Given the description of an element on the screen output the (x, y) to click on. 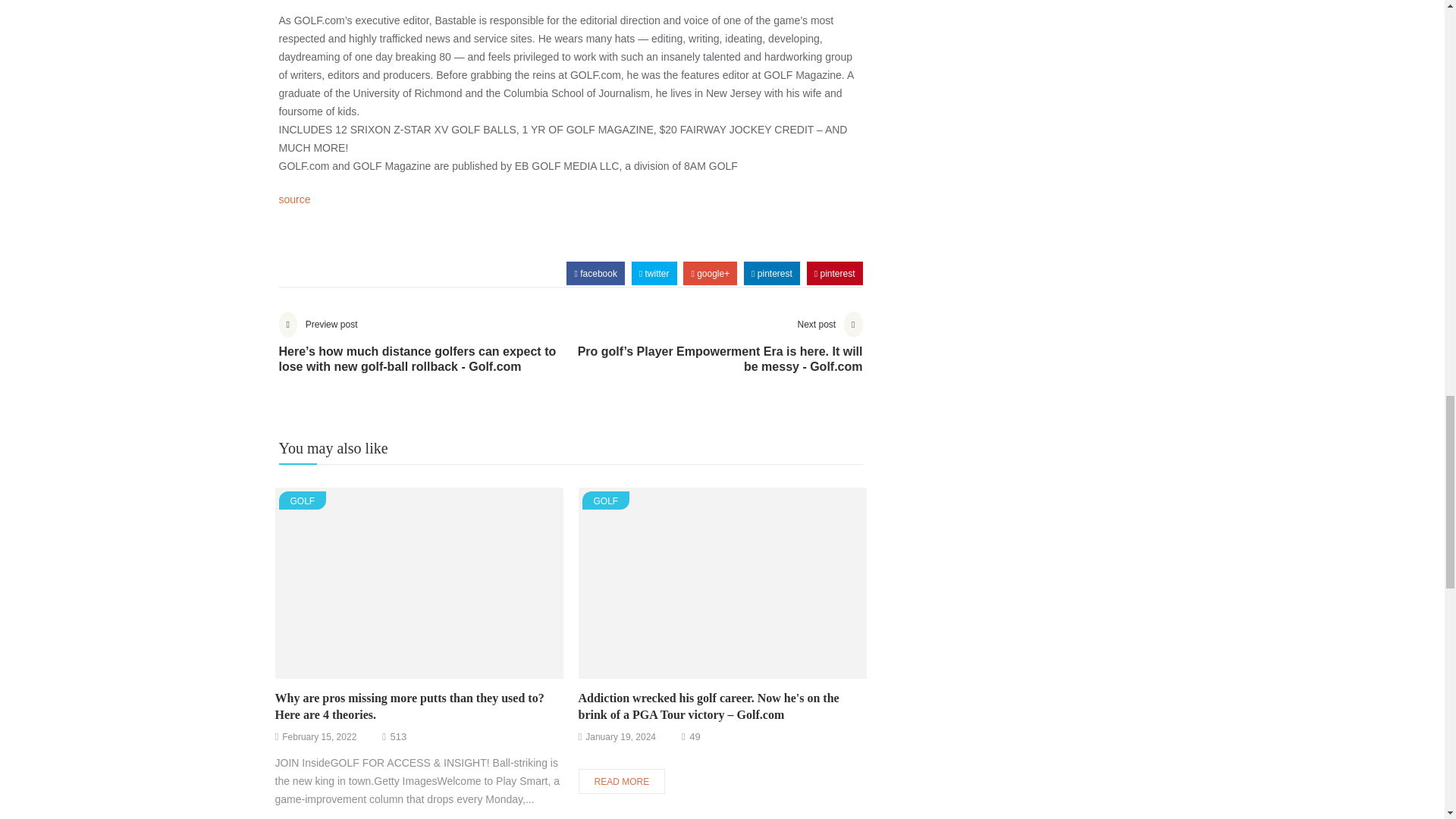
twitter (654, 273)
February 15, 2022 (319, 737)
GOLF (606, 500)
prev post (424, 353)
GOLF (302, 500)
source (295, 199)
pinterest (771, 273)
facebook (594, 273)
next post (715, 353)
facebook (594, 273)
pinterest (834, 273)
twitter (654, 273)
pinterest (834, 273)
